Given the description of an element on the screen output the (x, y) to click on. 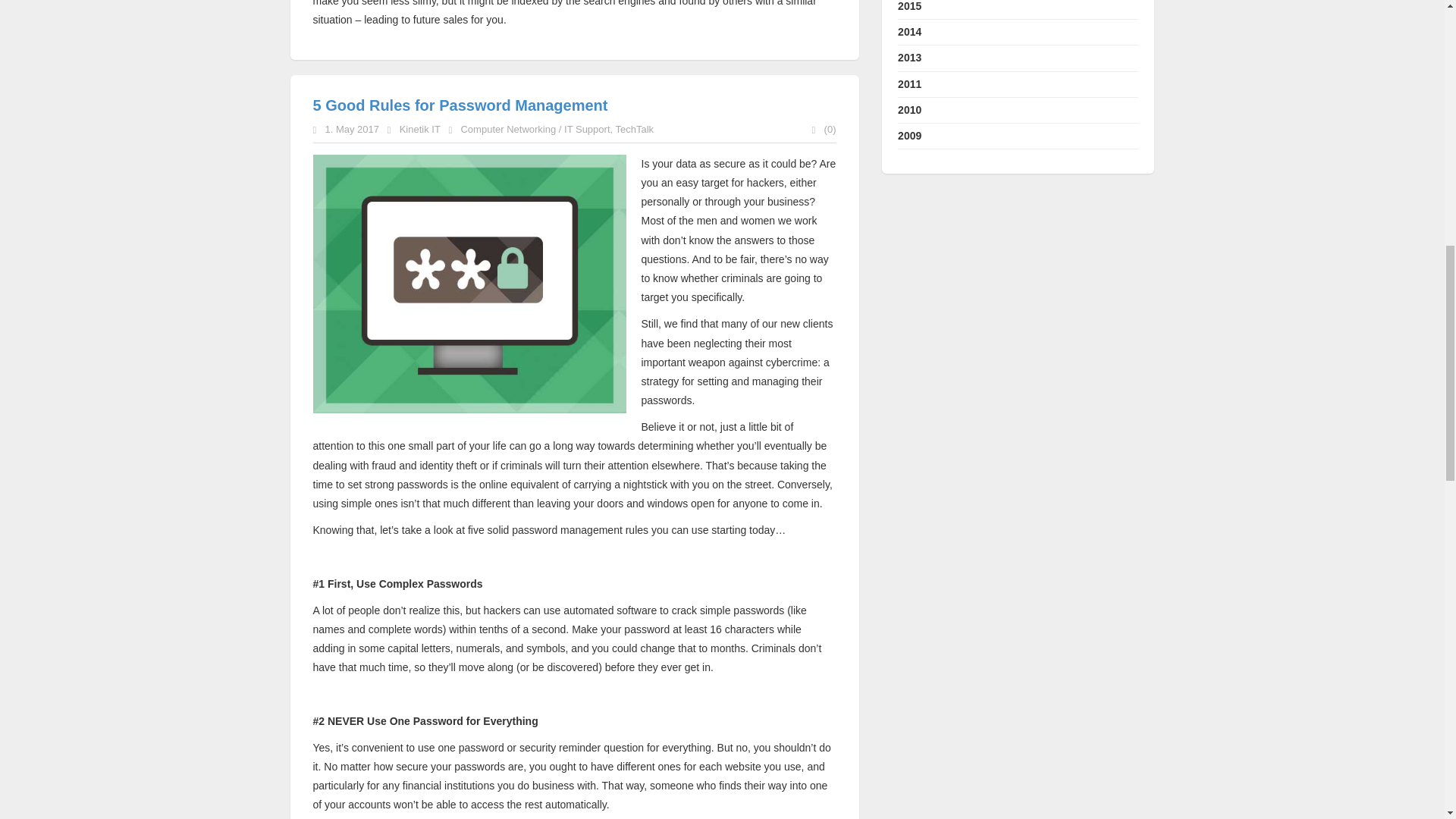
Kinetik IT (419, 129)
5 Good Rules for Password Management (460, 105)
TechTalk (634, 129)
